Given the description of an element on the screen output the (x, y) to click on. 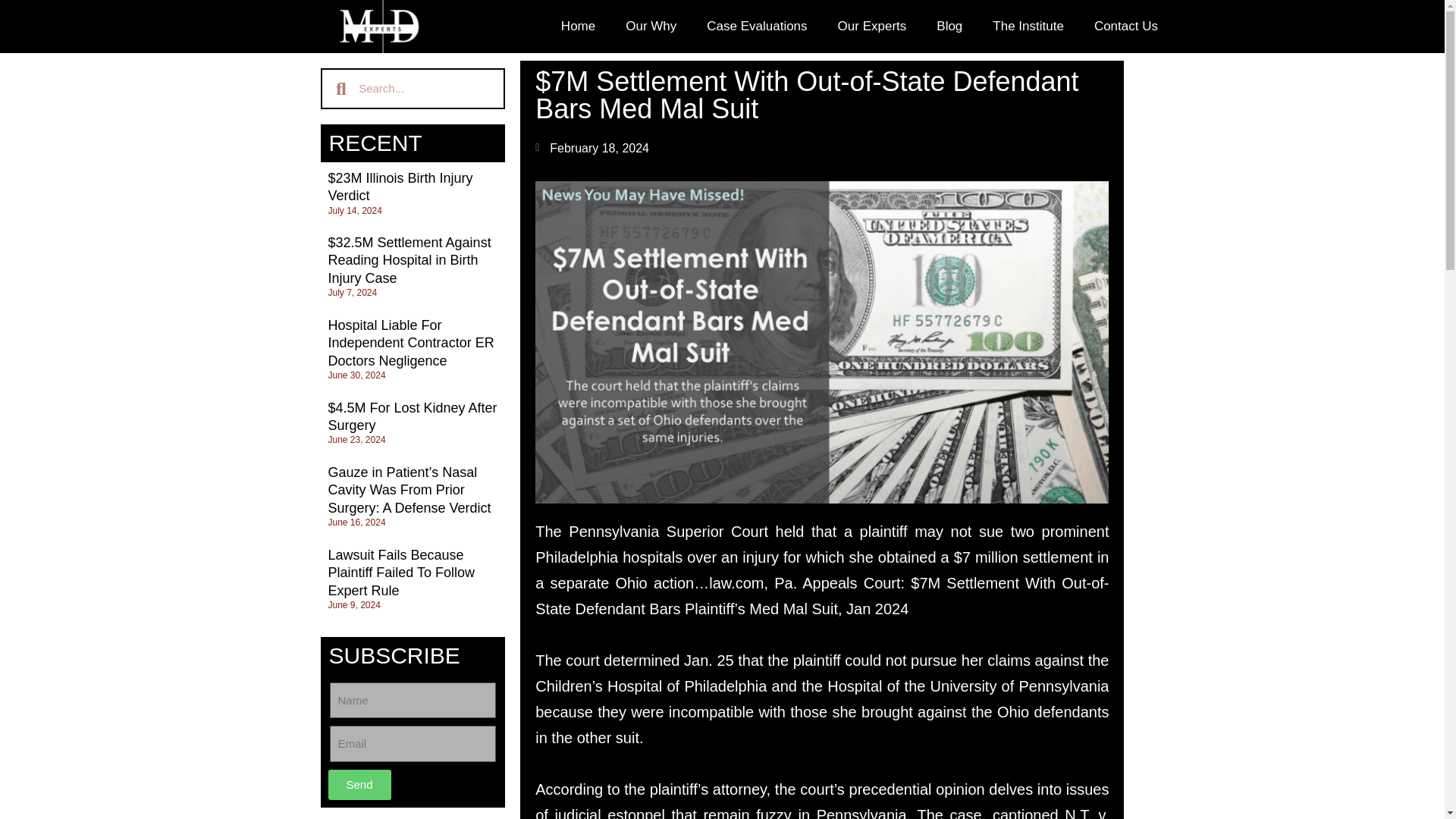
Home (578, 26)
Our Why (650, 26)
Lawsuit Fails Because Plaintiff Failed To Follow Expert Rule (400, 572)
Case Evaluations (756, 26)
The Institute (1027, 26)
February 18, 2024 (592, 148)
Contact Us (1125, 26)
Our Experts (871, 26)
Send (358, 784)
Blog (948, 26)
